Given the description of an element on the screen output the (x, y) to click on. 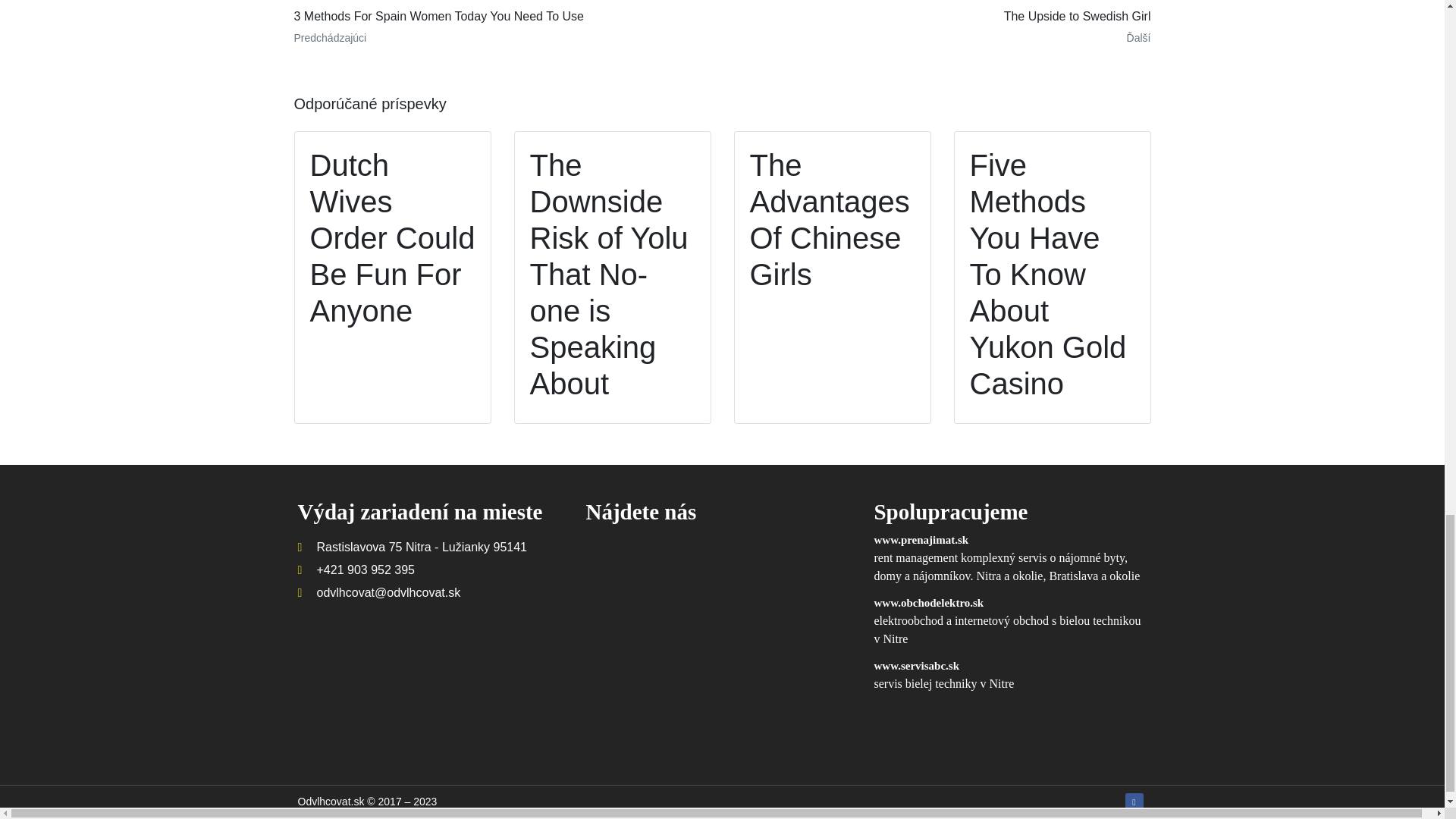
www.prenajimat.sk (920, 539)
www.servisabc.sk (916, 665)
www.obchodelektro.sk (928, 603)
